Given the description of an element on the screen output the (x, y) to click on. 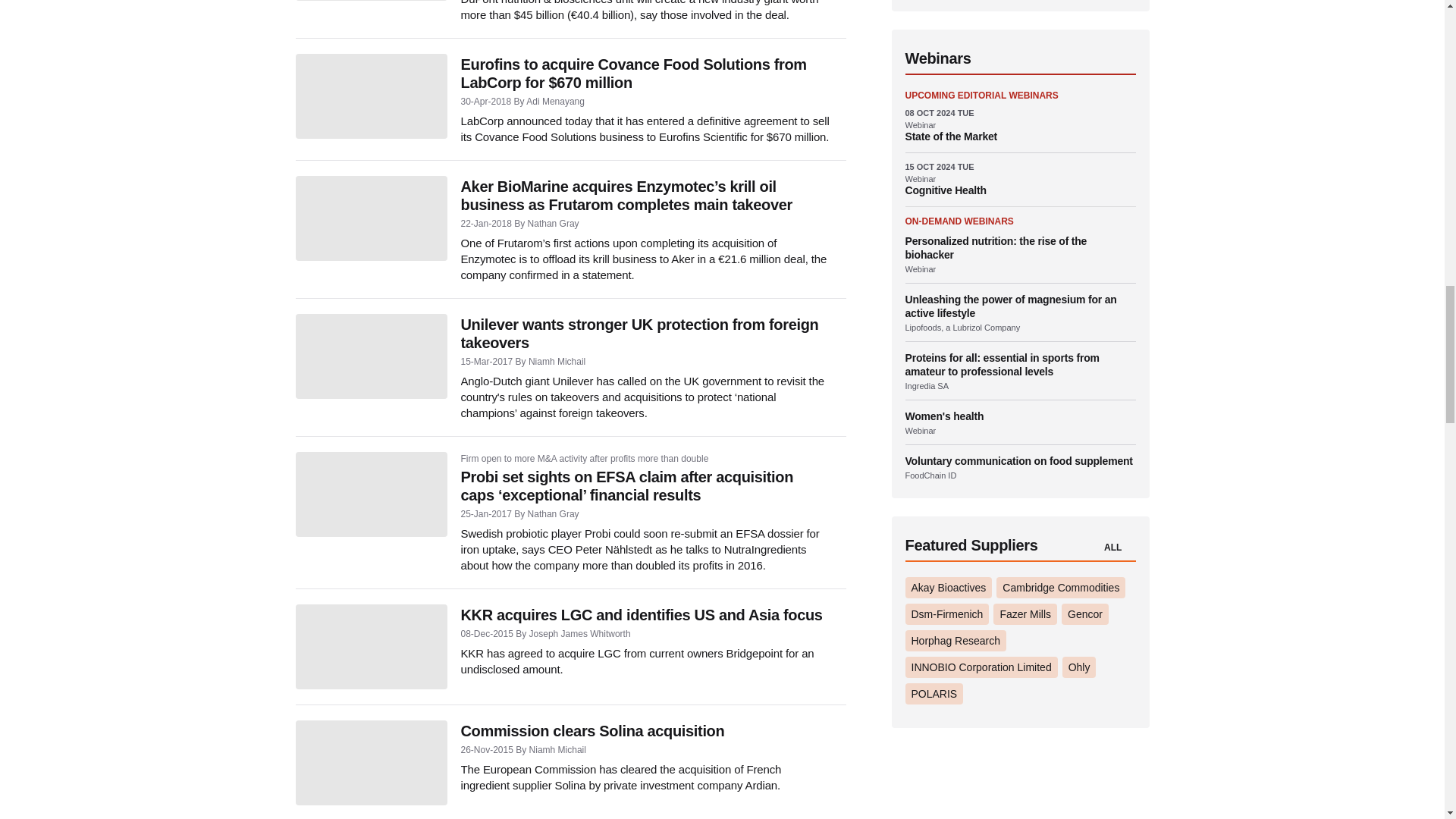
View full article (370, 96)
View full article (370, 218)
View full article (370, 355)
View full article (370, 494)
